Given the description of an element on the screen output the (x, y) to click on. 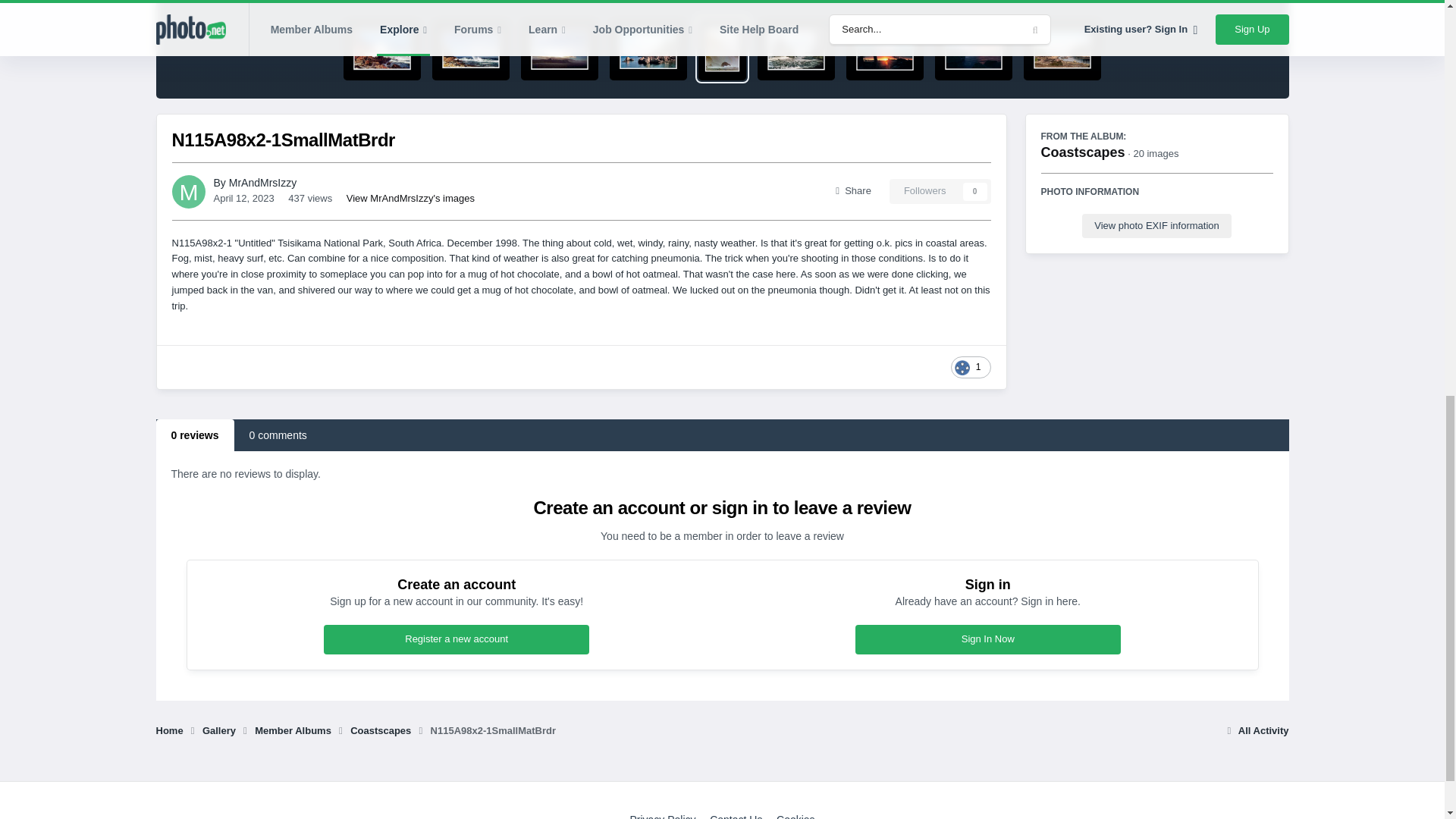
View the image N151B00x36-1SmallMatBrdr (648, 49)
View the image N115A98x2-1SmallMatBrdr (721, 49)
Go to MrAndMrsIzzy's profile (262, 182)
View the image N106B99x20A-1SmallMatBrdr (884, 49)
Go to MrAndMrsIzzy's profile (188, 191)
View the image N073A95x28-1SmallMatBrdr (972, 49)
View the image N162B98x5-1SmallMatBrdr (559, 49)
View the image N107B99x12A-1SmallMatBrdr (795, 49)
View the image N162B98x28-1SmallMatBrdr (381, 49)
View the image N162B98x26-1SmallMatBrdr (470, 49)
View the image N061B00x20-1SmallMatBrdr (1061, 49)
